Given the description of an element on the screen output the (x, y) to click on. 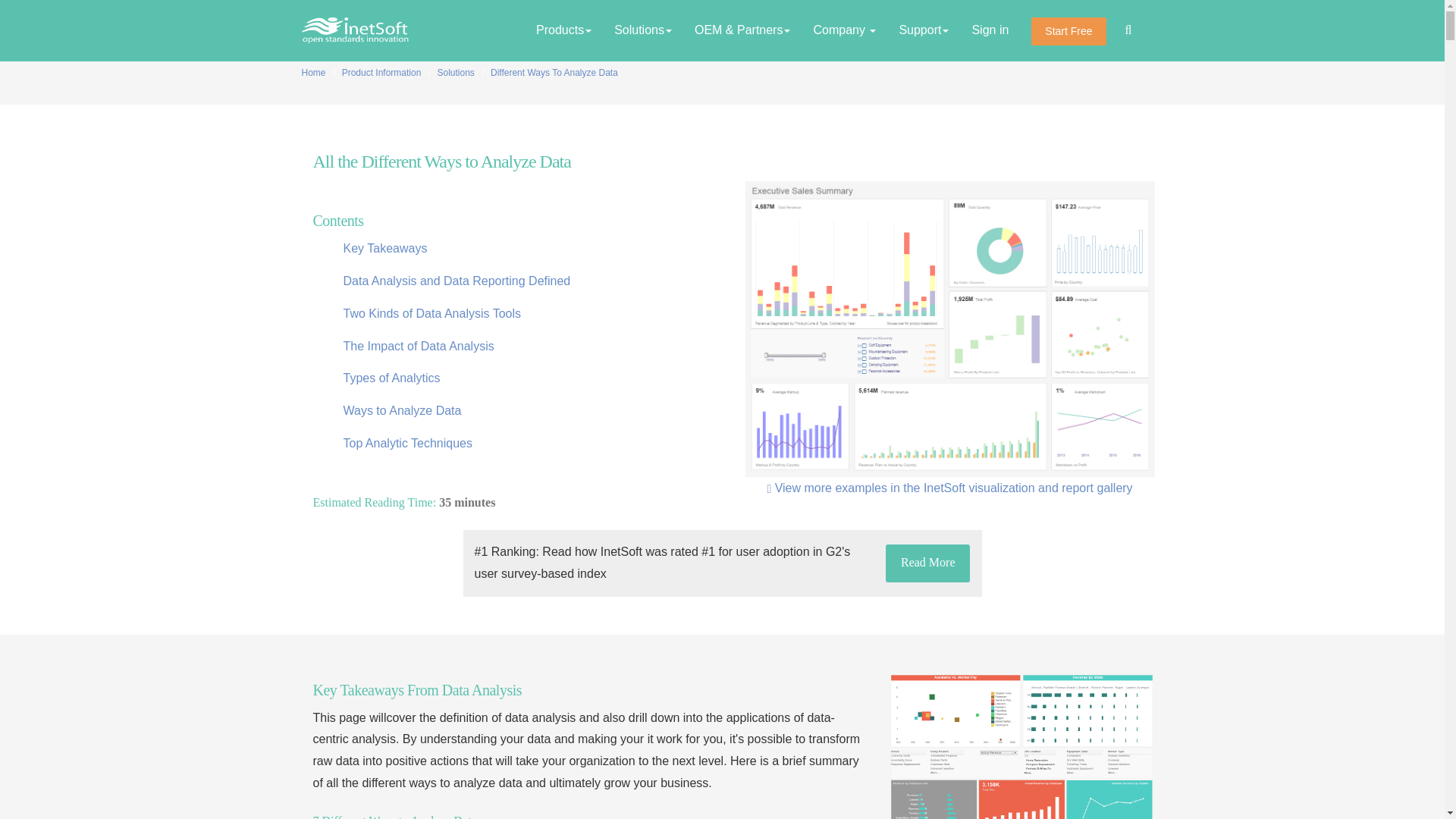
Products (563, 30)
Solutions (642, 30)
click to enlarge this example of  an executive sales summary (949, 328)
Start Free (1067, 31)
View More Examples (949, 487)
